Given the description of an element on the screen output the (x, y) to click on. 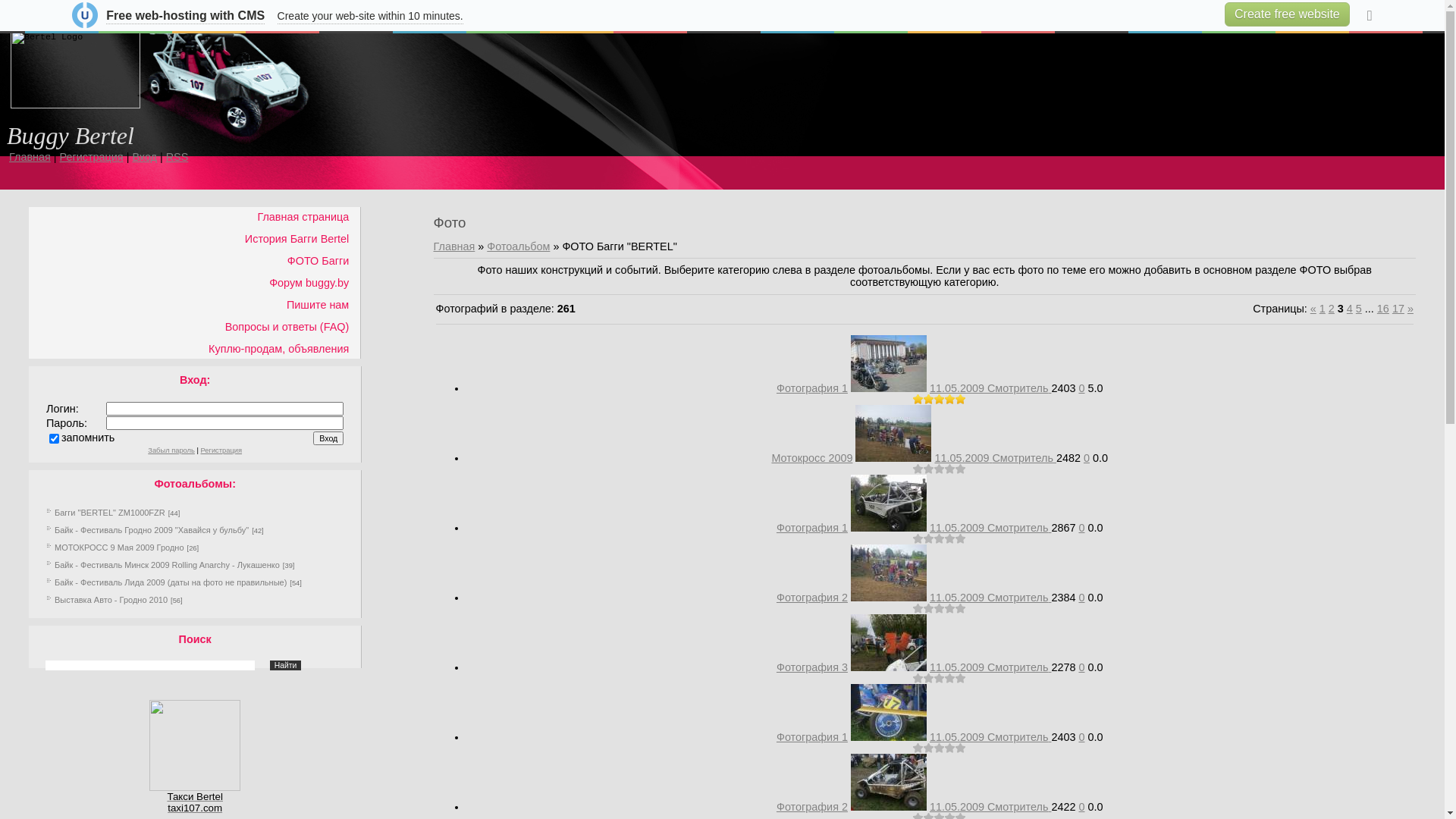
2 Element type: text (928, 469)
17 Element type: text (1398, 308)
4 Element type: text (949, 538)
3 Element type: text (939, 469)
0 Element type: text (1081, 737)
3 Element type: text (939, 748)
2 Element type: text (928, 608)
5 Element type: text (960, 469)
3 Element type: text (939, 538)
1 Element type: text (918, 678)
2 Element type: text (928, 678)
1 Element type: text (1322, 308)
0 Element type: text (1081, 667)
5 Element type: text (960, 678)
1 Element type: text (918, 748)
16 Element type: text (1383, 308)
5 Element type: text (960, 608)
4 Element type: text (1349, 308)
3 Element type: text (939, 399)
4 Element type: text (949, 678)
0 Element type: text (1086, 457)
2 Element type: text (1331, 308)
1 Element type: text (918, 608)
0 Element type: text (1081, 806)
5 Element type: text (960, 399)
5 Element type: text (1358, 308)
4 Element type: text (949, 608)
4 Element type: text (949, 748)
0 Element type: text (1081, 527)
1 Element type: text (918, 538)
5 Element type: text (960, 538)
1 Element type: text (918, 469)
5 Element type: text (960, 748)
0 Element type: text (1081, 597)
4 Element type: text (949, 469)
4 Element type: text (949, 399)
2 Element type: text (928, 748)
2 Element type: text (928, 538)
3 Element type: text (939, 678)
0 Element type: text (1081, 388)
3 Element type: text (939, 608)
RSS Element type: text (177, 156)
1 Element type: text (918, 399)
2 Element type: text (928, 399)
